Given the description of an element on the screen output the (x, y) to click on. 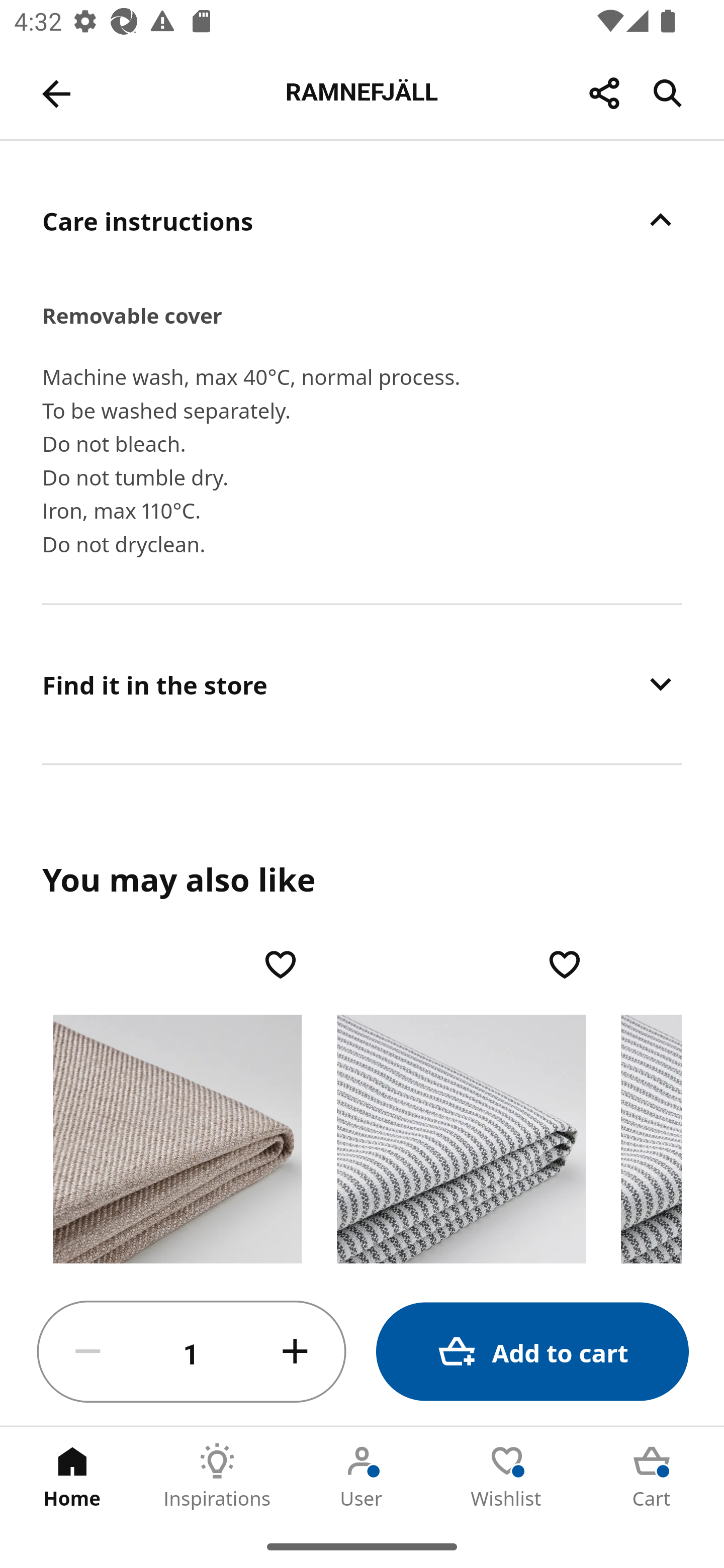
Care instructions (361, 219)
Find it in the store (361, 684)
Add to cart (531, 1352)
1 (191, 1352)
Home
Tab 1 of 5 (72, 1476)
Inspirations
Tab 2 of 5 (216, 1476)
User
Tab 3 of 5 (361, 1476)
Wishlist
Tab 4 of 5 (506, 1476)
Cart
Tab 5 of 5 (651, 1476)
